Given the description of an element on the screen output the (x, y) to click on. 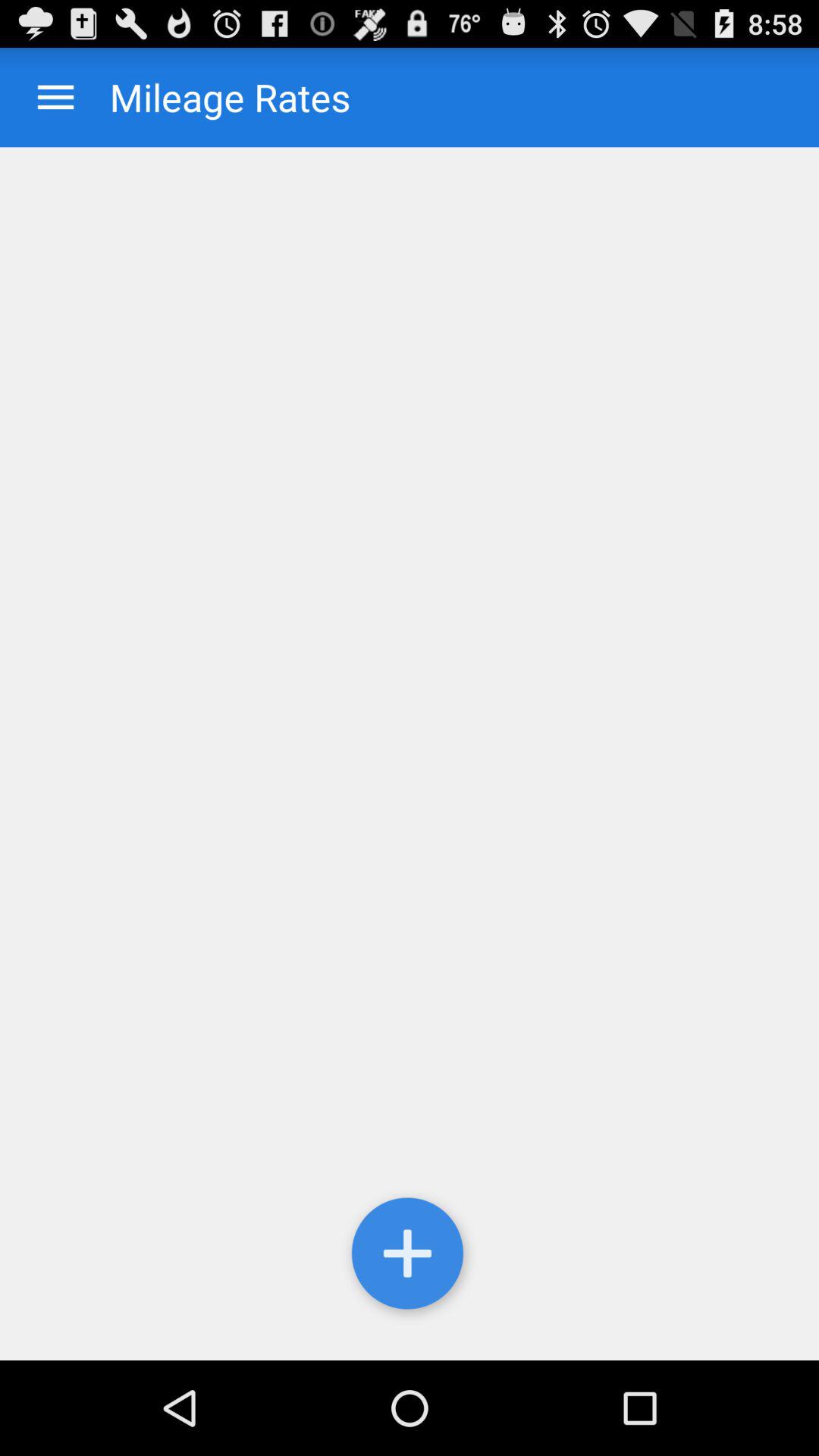
turn on icon below the mileage rates icon (409, 753)
